Given the description of an element on the screen output the (x, y) to click on. 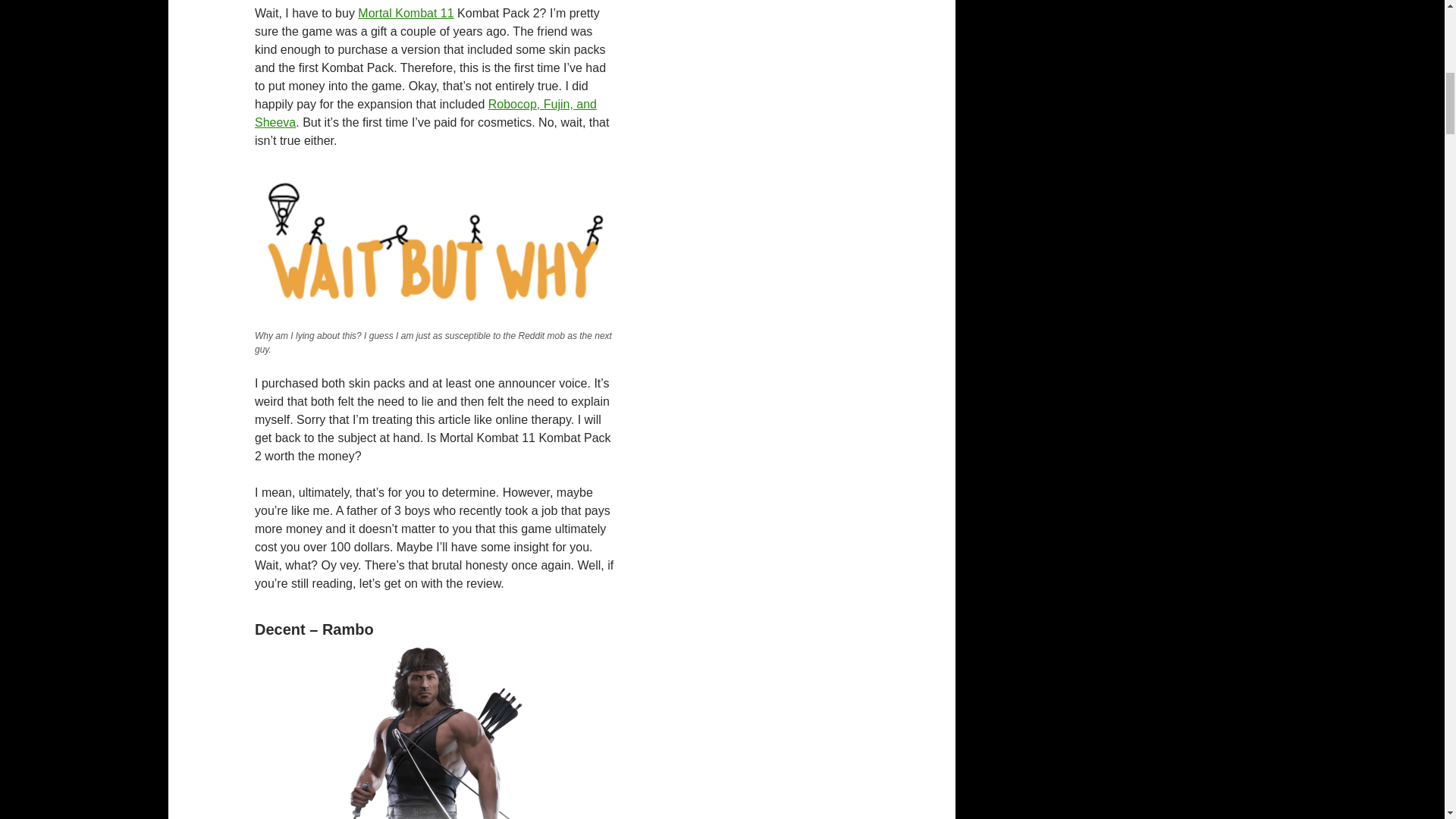
Mortal Kombat 11 (405, 12)
Robocop, Fujin, and Sheeva (425, 112)
